Given the description of an element on the screen output the (x, y) to click on. 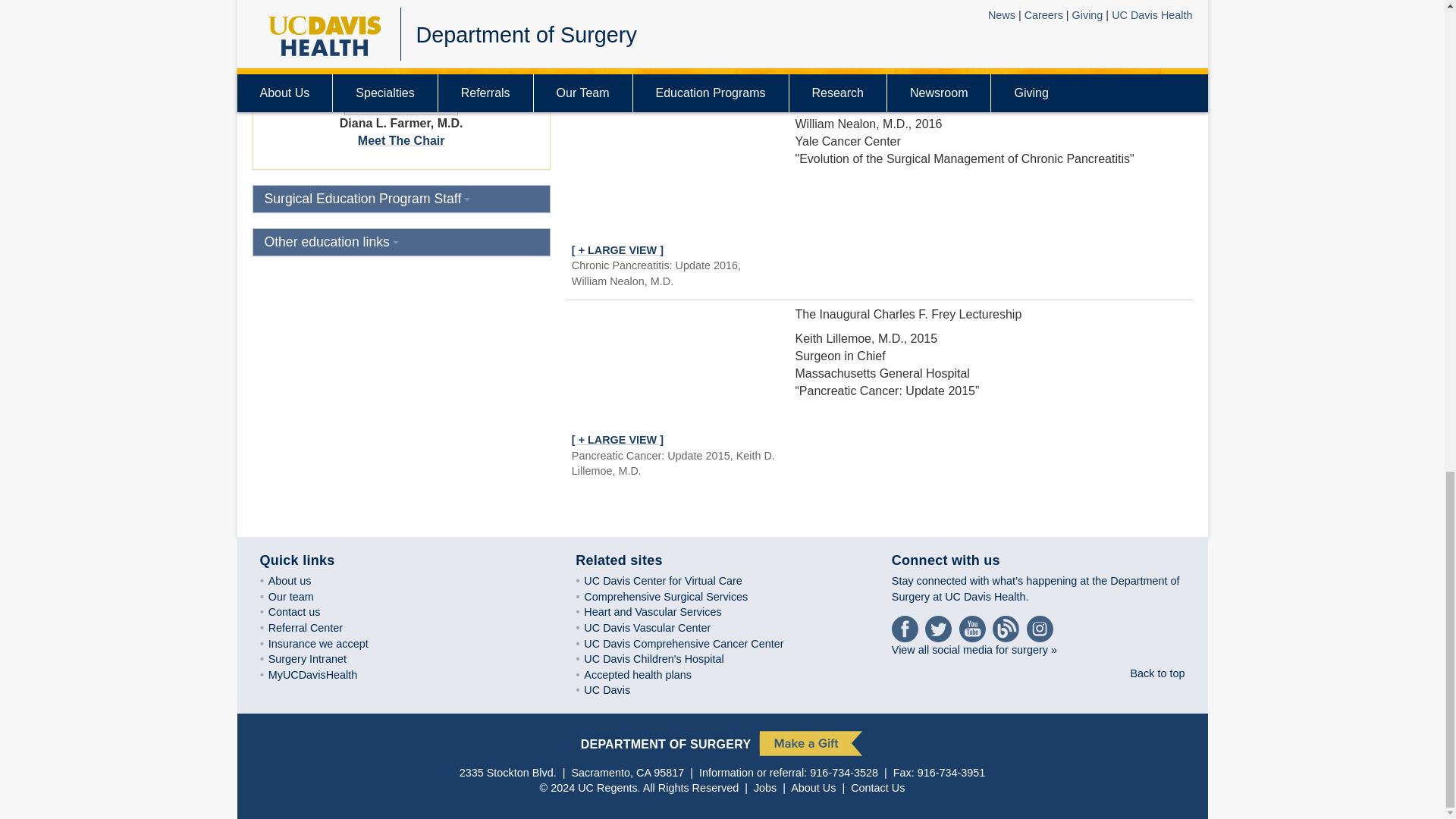
Follow the Chest Health blog (1007, 626)
Subscribe to the Department of Surgery channel on YouTube (974, 626)
UC Davis Vascular Center (657, 627)
Heart and Vascular Services (663, 612)
UC Davis Children's Hospital (664, 658)
Social media channels for surgical services (1035, 588)
Comprehensive Surgical Services (676, 596)
Follow Cardiothoracic Surgery on Facebook (906, 626)
